Given the description of an element on the screen output the (x, y) to click on. 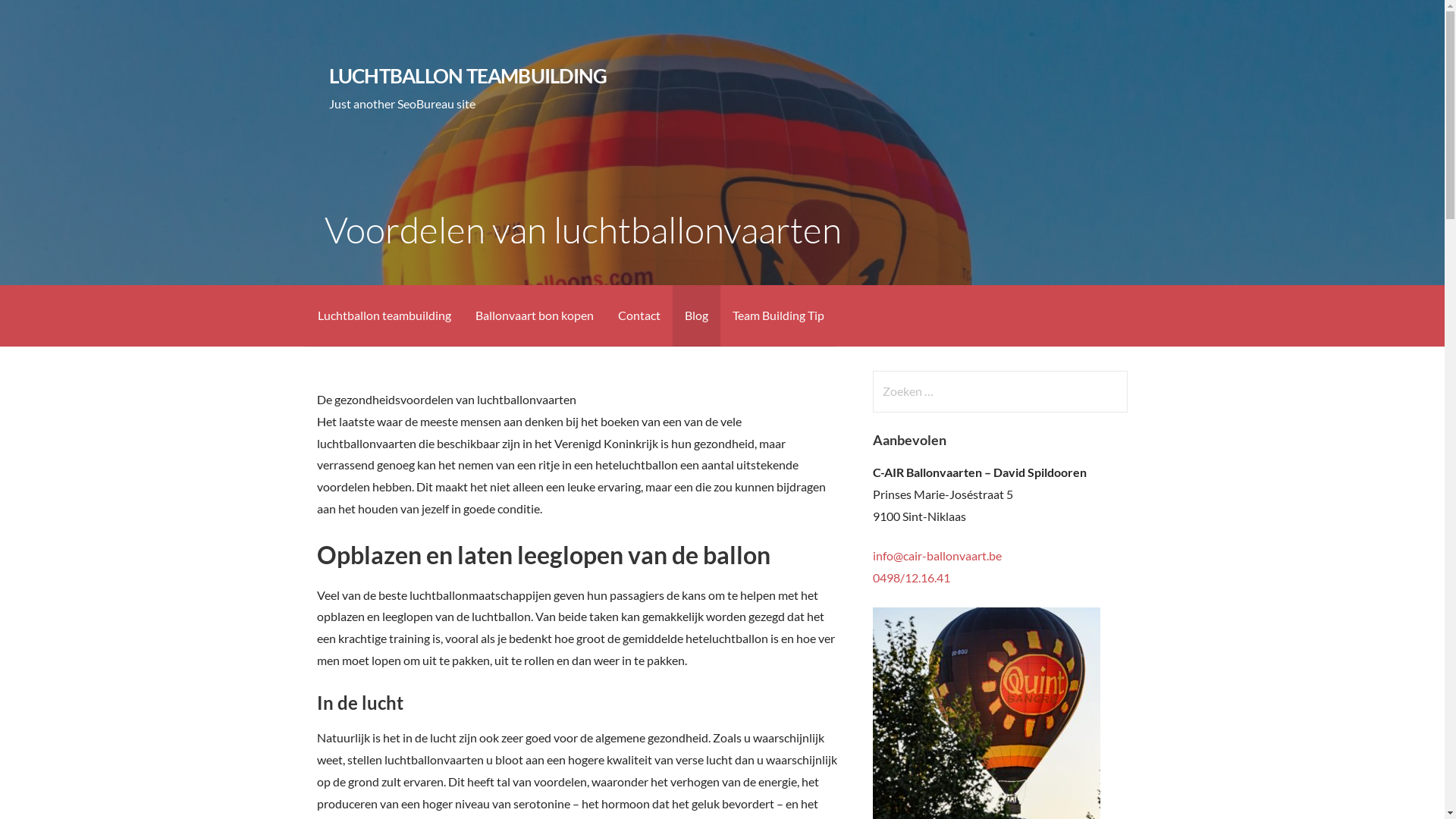
info@cair-ballonvaart.be Element type: text (936, 555)
0498/12.16.41 Element type: text (911, 577)
Luchtballon teambuilding Element type: text (383, 315)
Team Building Tip Element type: text (778, 315)
Ballonvaart bon kopen Element type: text (533, 315)
Blog Element type: text (695, 315)
Naar inhoud gaan Element type: text (0, 0)
Zoeken Element type: text (42, 18)
Contact Element type: text (638, 315)
LUCHTBALLON TEAMBUILDING Element type: text (468, 75)
